Given the description of an element on the screen output the (x, y) to click on. 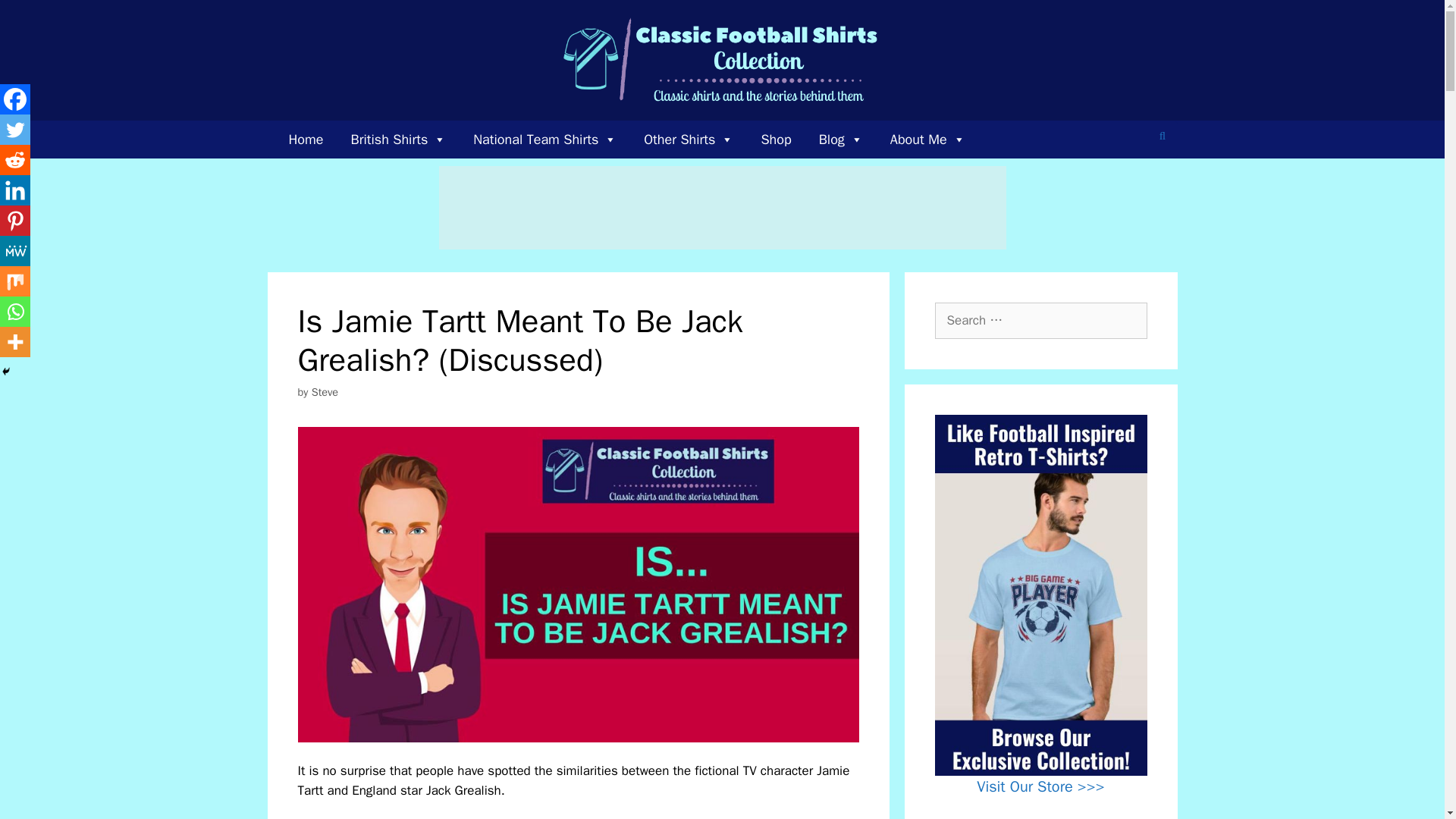
British Shirts (398, 139)
Home (305, 139)
View all posts by Steve (324, 391)
